Given the description of an element on the screen output the (x, y) to click on. 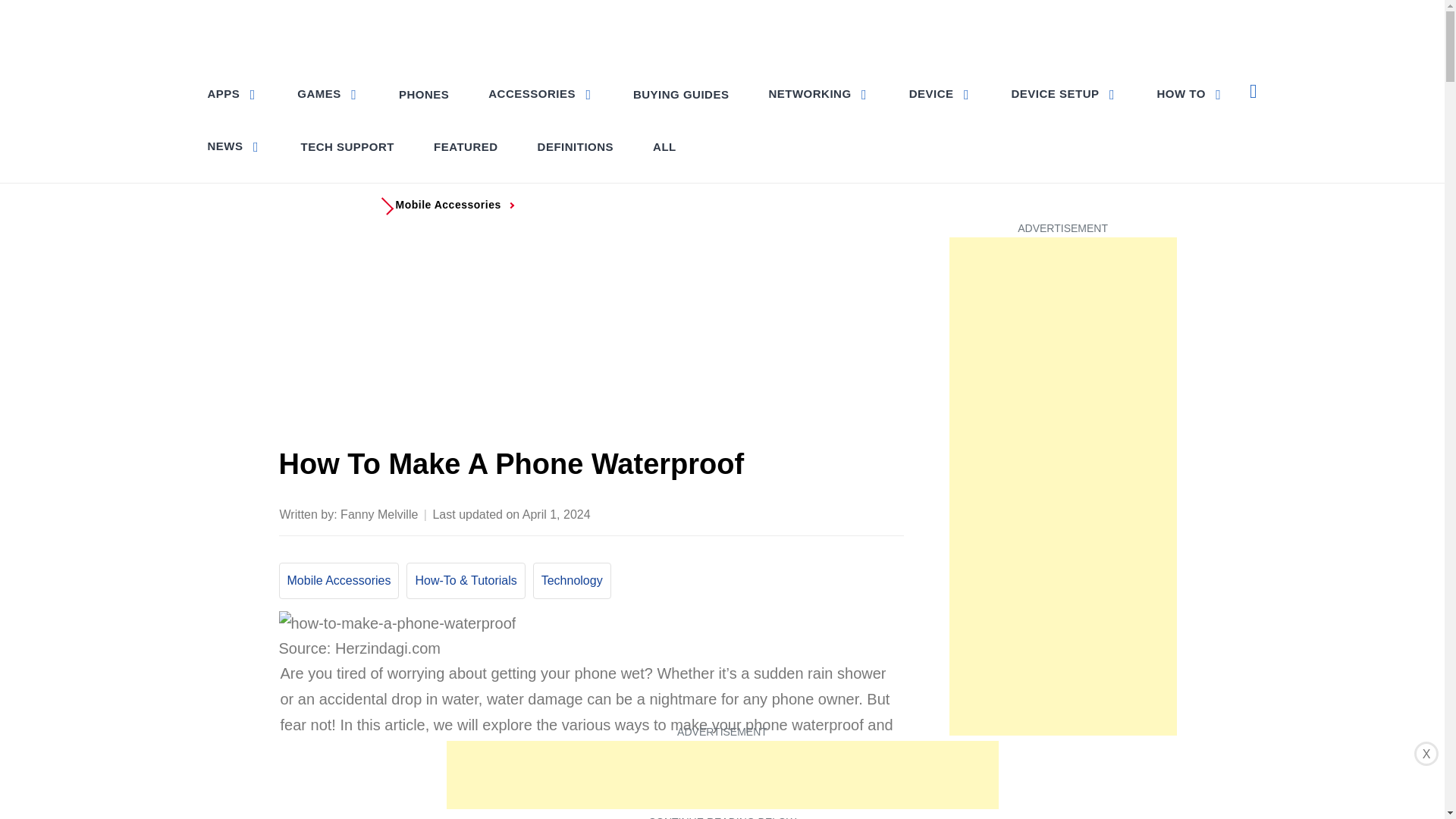
PHONES (424, 94)
Share on facebook (740, 512)
ACCESSORIES (540, 93)
Mail the Link (890, 512)
Share on twitter (769, 512)
Copy to Clipboard (860, 512)
BUYING GUIDES (681, 94)
APPS (233, 93)
Share on Pinterest (800, 512)
GAMES (327, 93)
